Given the description of an element on the screen output the (x, y) to click on. 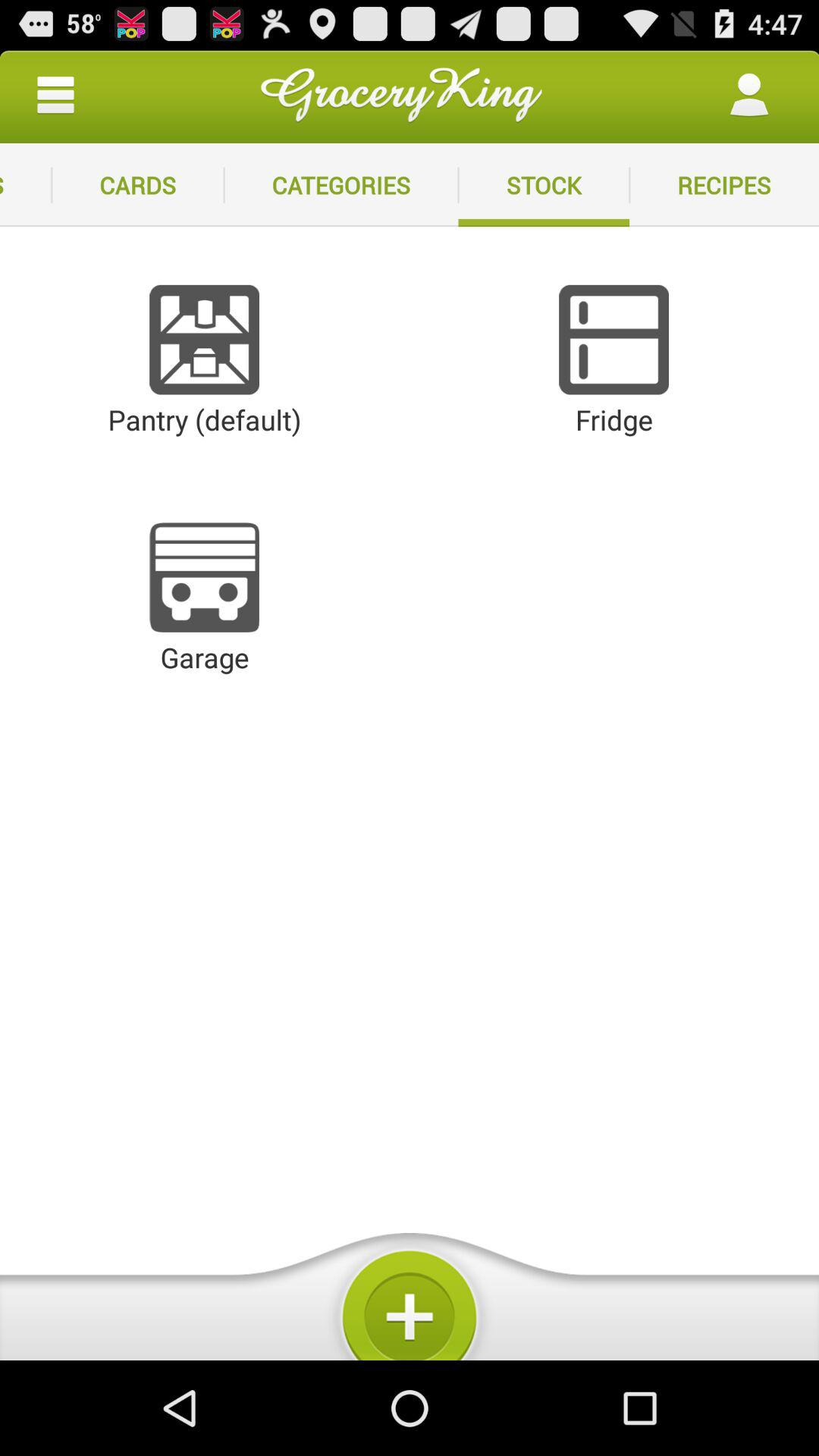
swipe to cards icon (137, 184)
